Given the description of an element on the screen output the (x, y) to click on. 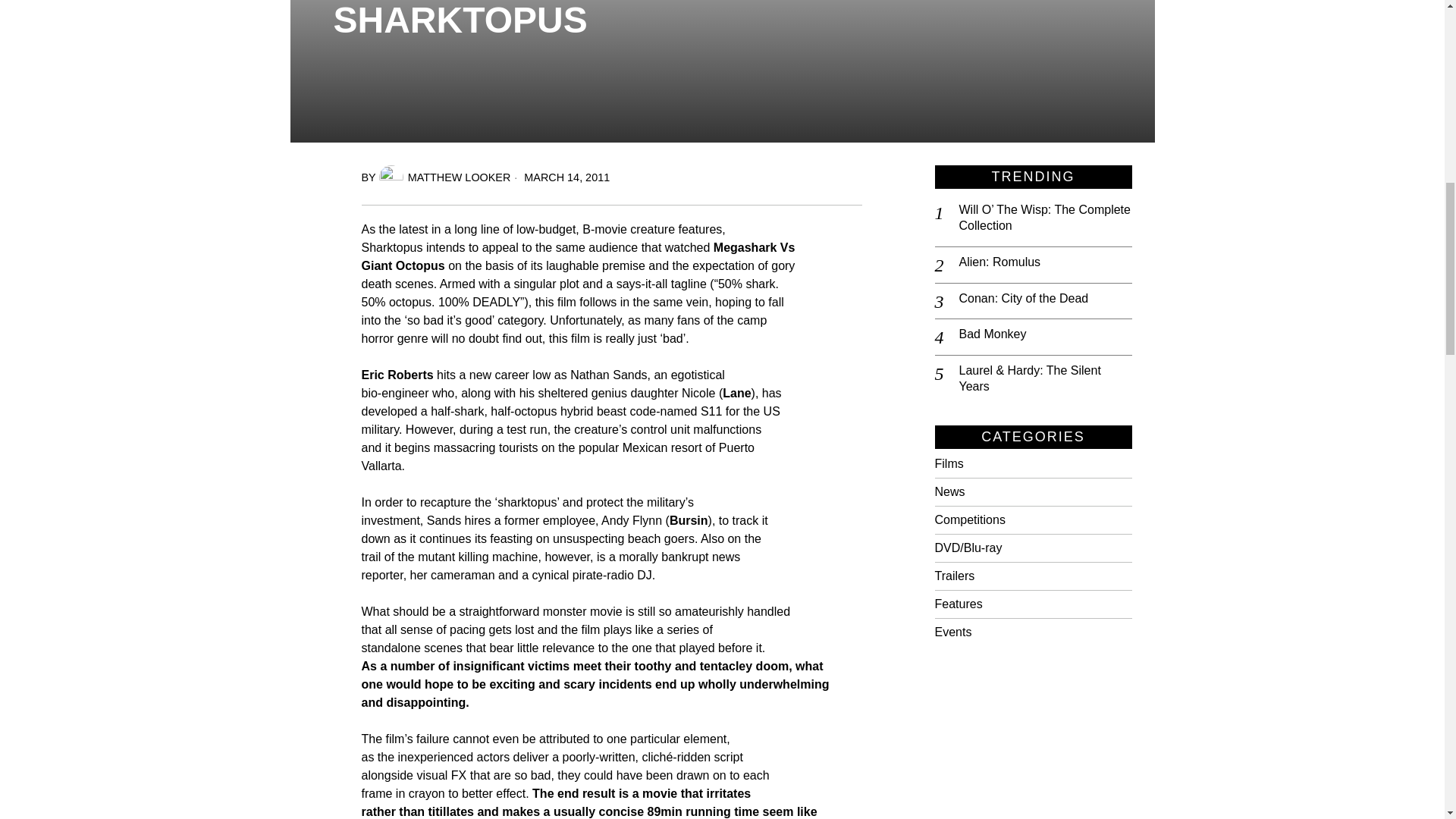
Conan: City of the Dead (1044, 299)
Competitions (969, 519)
Alien: Romulus (1044, 262)
14 Mar, 2011 08:49:45 (560, 177)
Bad Monkey (1044, 334)
Events (952, 631)
MATTHEW LOOKER (444, 177)
Features (957, 603)
Trailers (1396, 22)
